Given the description of an element on the screen output the (x, y) to click on. 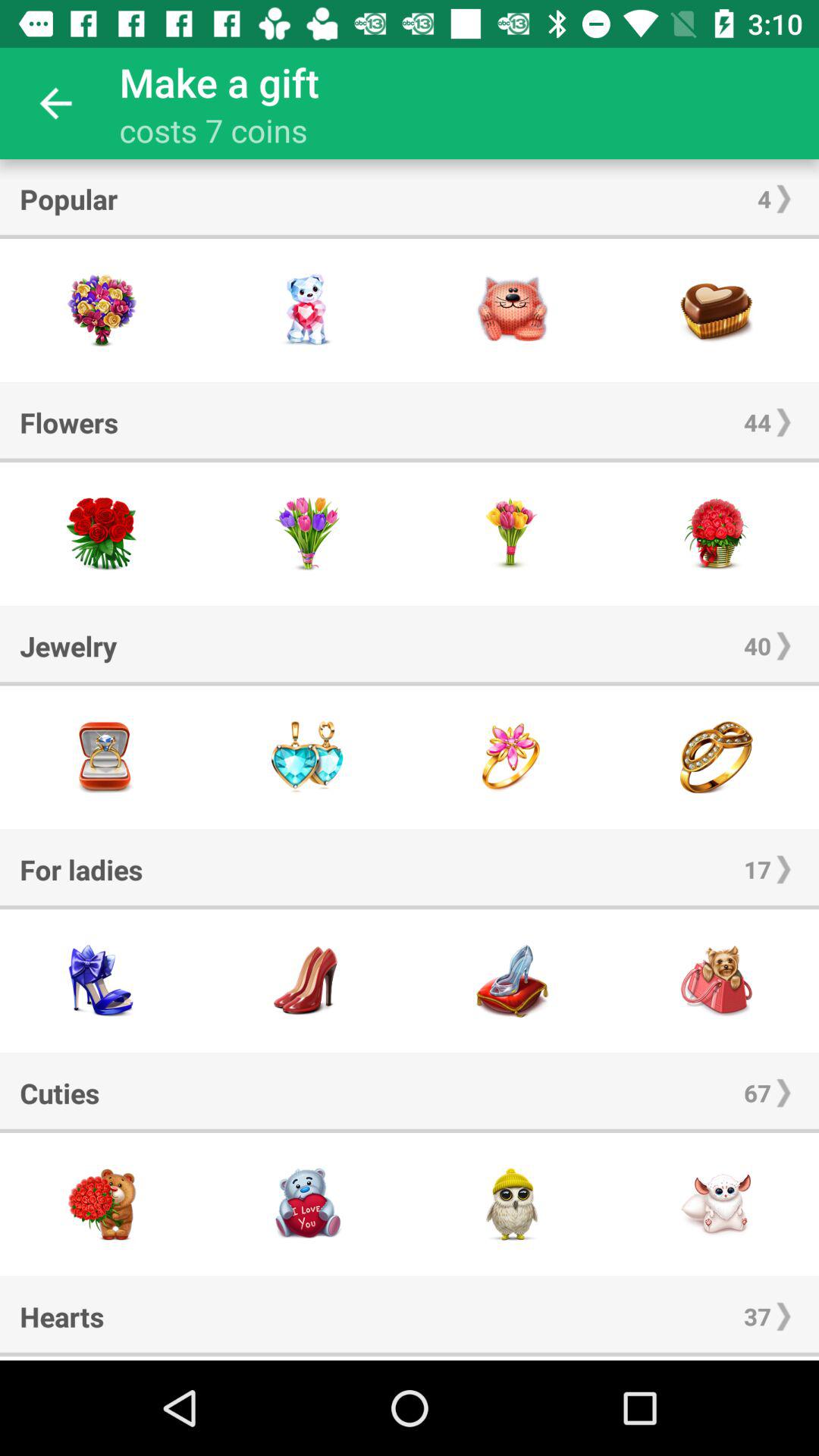
turn on the item below popular (409, 236)
